Given the description of an element on the screen output the (x, y) to click on. 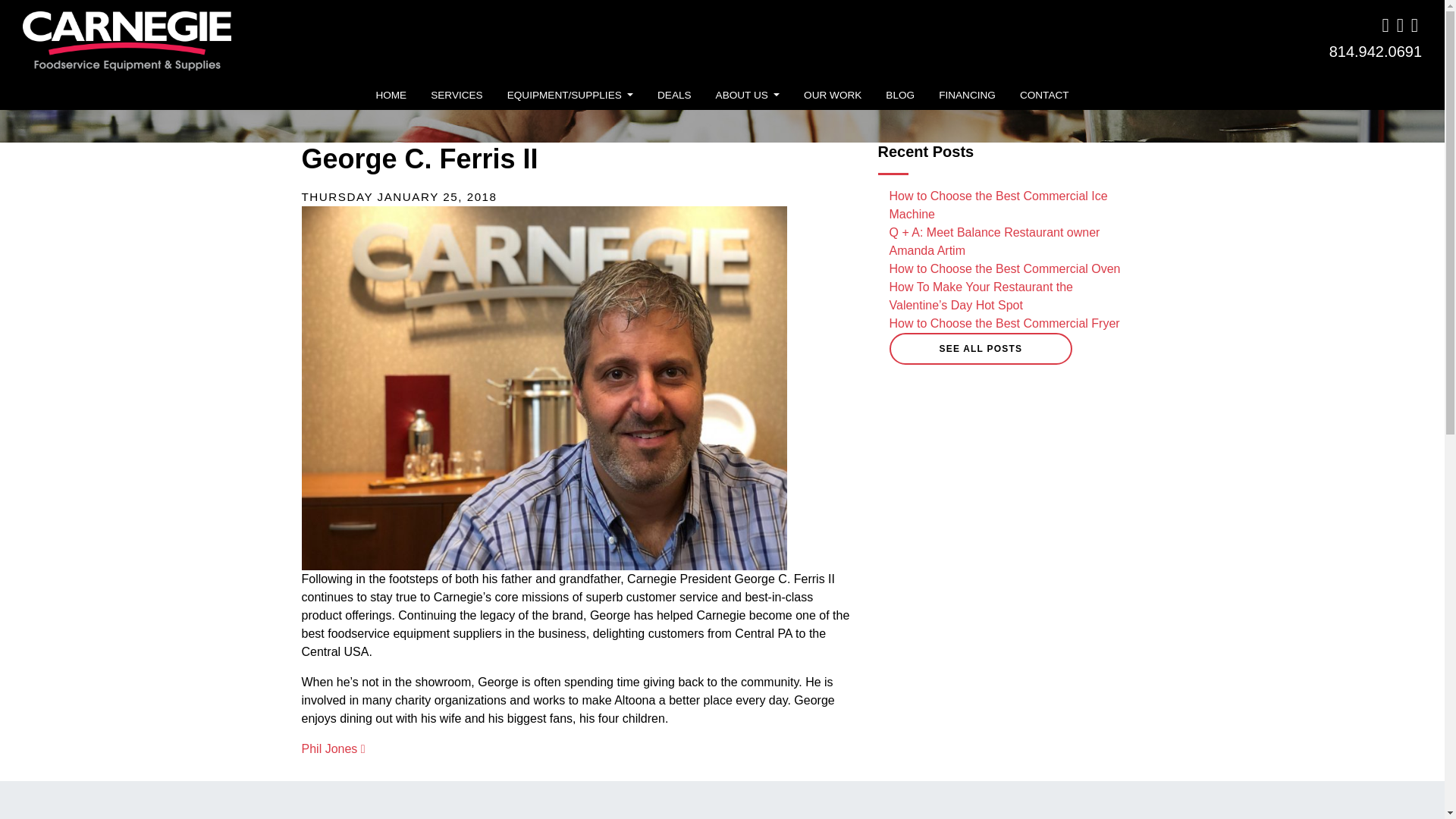
ABOUT US (748, 94)
Blog (899, 94)
SEE ALL POSTS (979, 348)
Phil Jones  (333, 748)
FINANCING (967, 94)
HOME (390, 94)
How to Choose the Best Commercial Ice Machine (997, 204)
Home (390, 94)
CONTACT (1044, 94)
DEALS (673, 94)
